Given the description of an element on the screen output the (x, y) to click on. 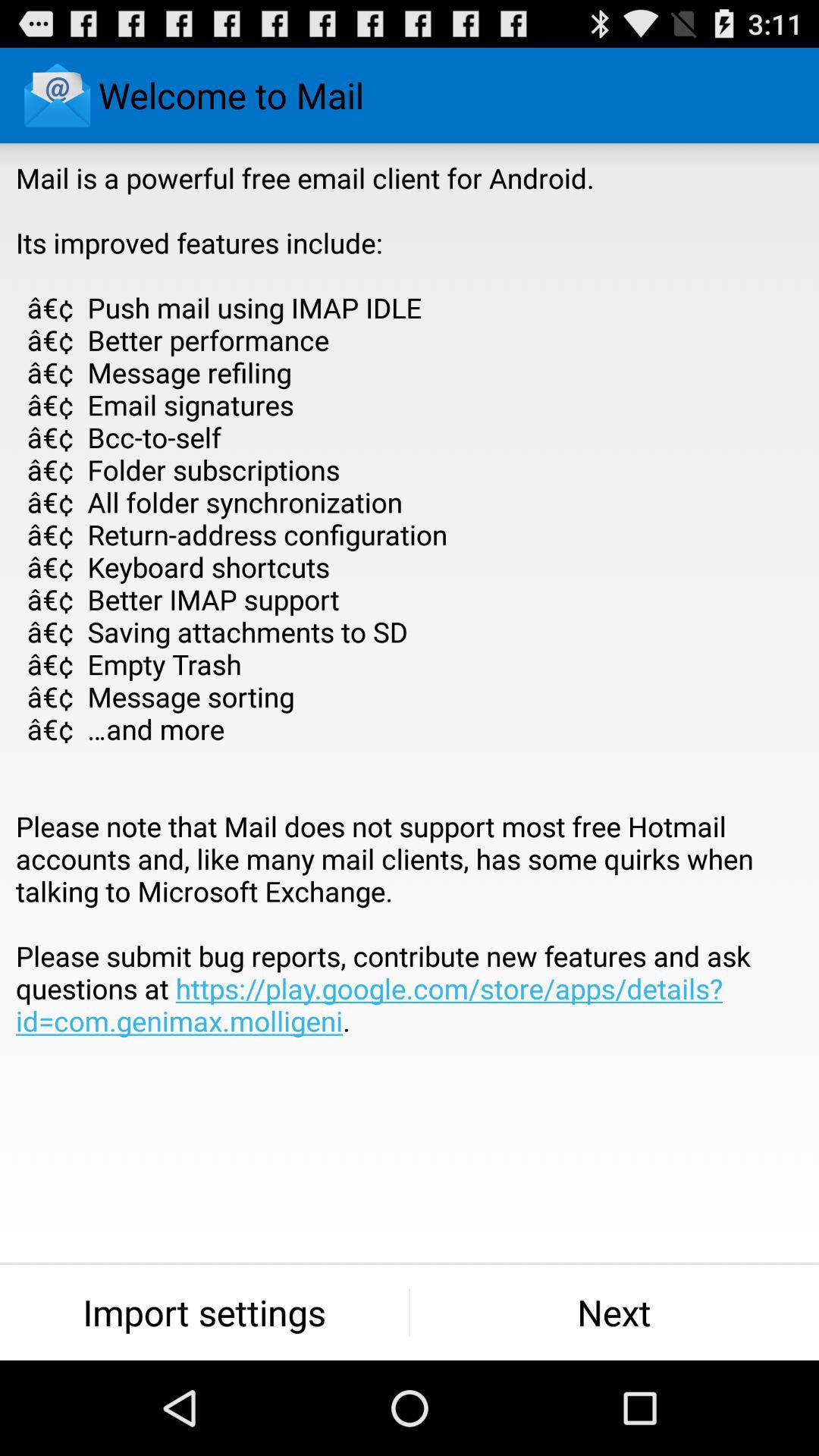
launch the import settings item (204, 1312)
